Given the description of an element on the screen output the (x, y) to click on. 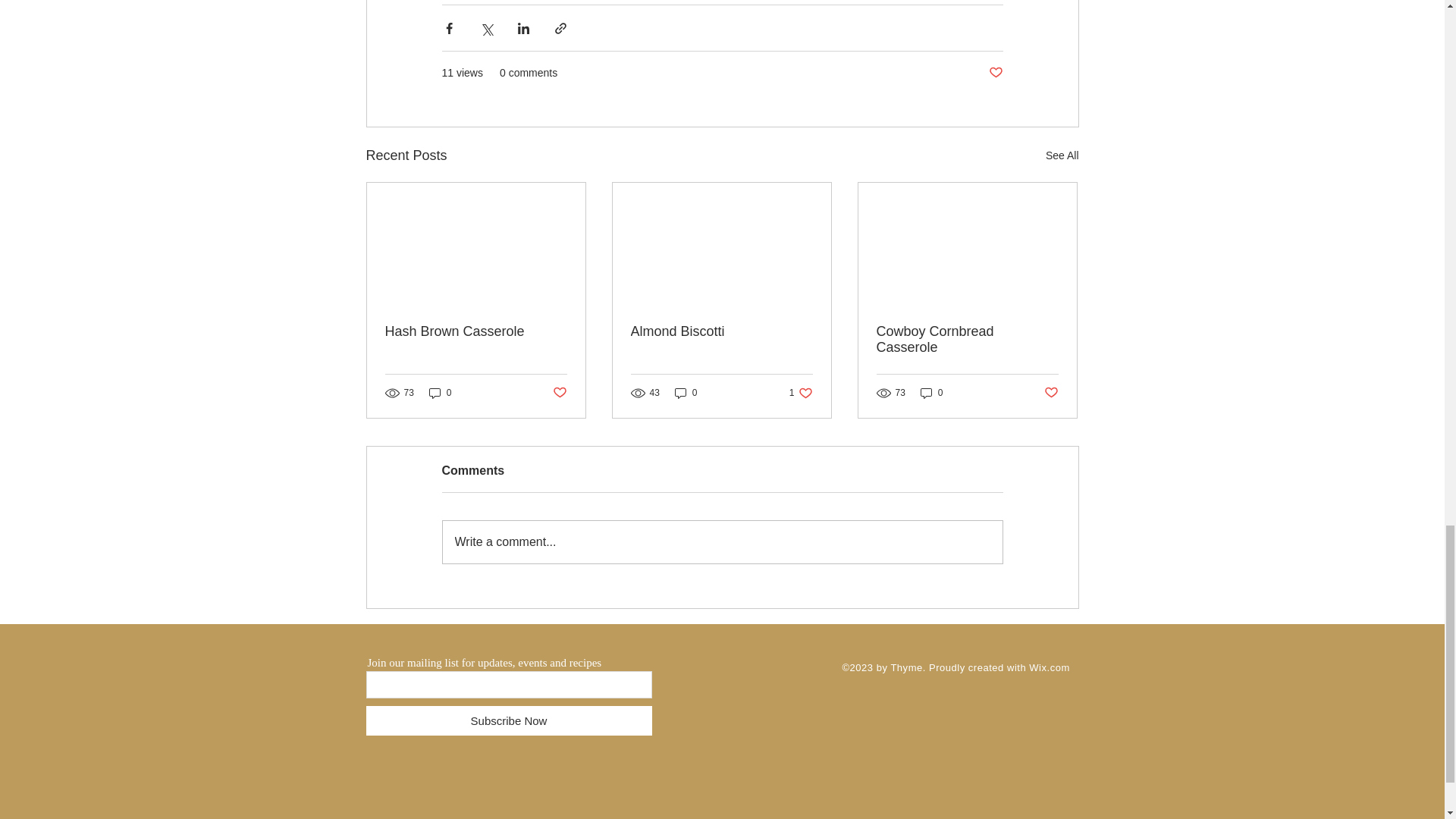
Almond Biscotti (721, 331)
0 (440, 391)
Cowboy Cornbread Casserole (967, 339)
Post not marked as liked (1050, 392)
0 (685, 391)
Hash Brown Casserole (476, 331)
Post not marked as liked (558, 392)
0 (931, 391)
Write a comment... (800, 391)
Post not marked as liked (722, 541)
Wix.com (995, 73)
See All (1048, 667)
Subscribe Now (1061, 155)
